Given the description of an element on the screen output the (x, y) to click on. 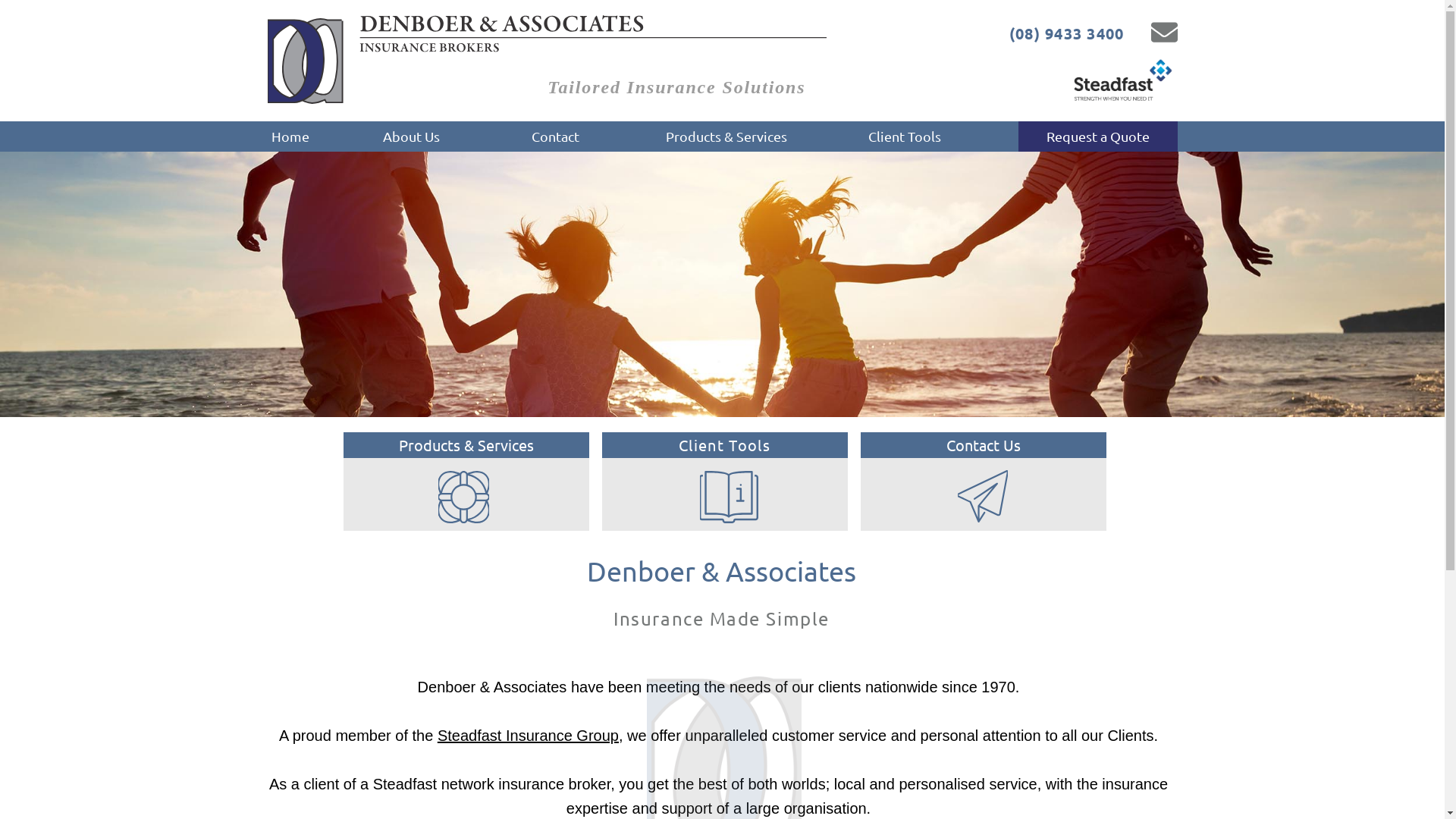
Contact Element type: text (554, 136)
Products & Services Element type: text (725, 136)
Client Tools Element type: text (724, 445)
(08) 9433 3400 Element type: text (1043, 32)
Products & Services Element type: text (465, 445)
Contact Us Element type: text (982, 445)
Steadfast Insurance Group Element type: text (527, 735)
About Us Element type: text (410, 136)
Request a Quote Element type: text (1096, 136)
Home Element type: text (289, 136)
Client Tools Element type: text (903, 136)
